Given the description of an element on the screen output the (x, y) to click on. 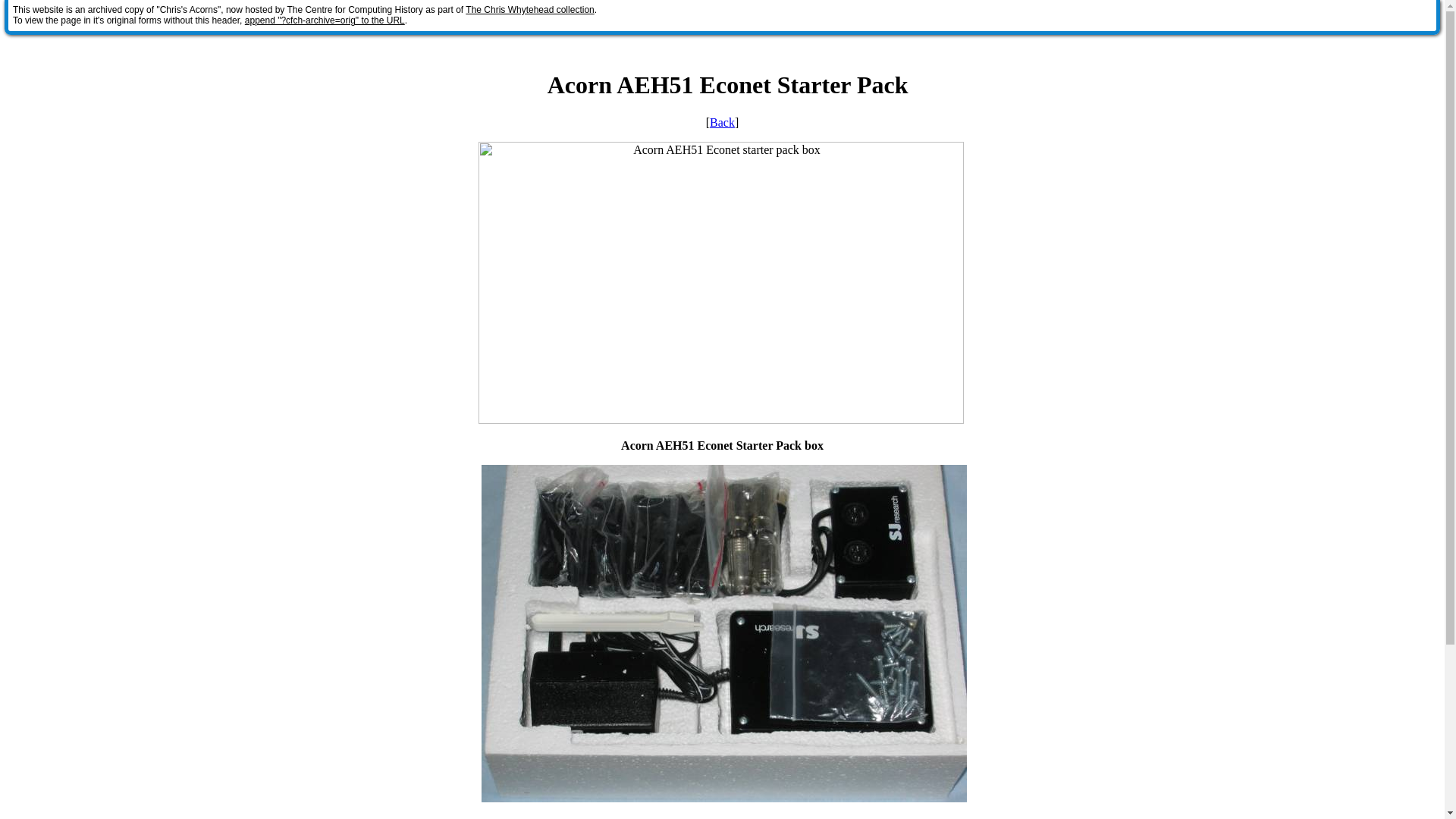
The Chris Whytehead collection (529, 9)
Back (722, 122)
